Given the description of an element on the screen output the (x, y) to click on. 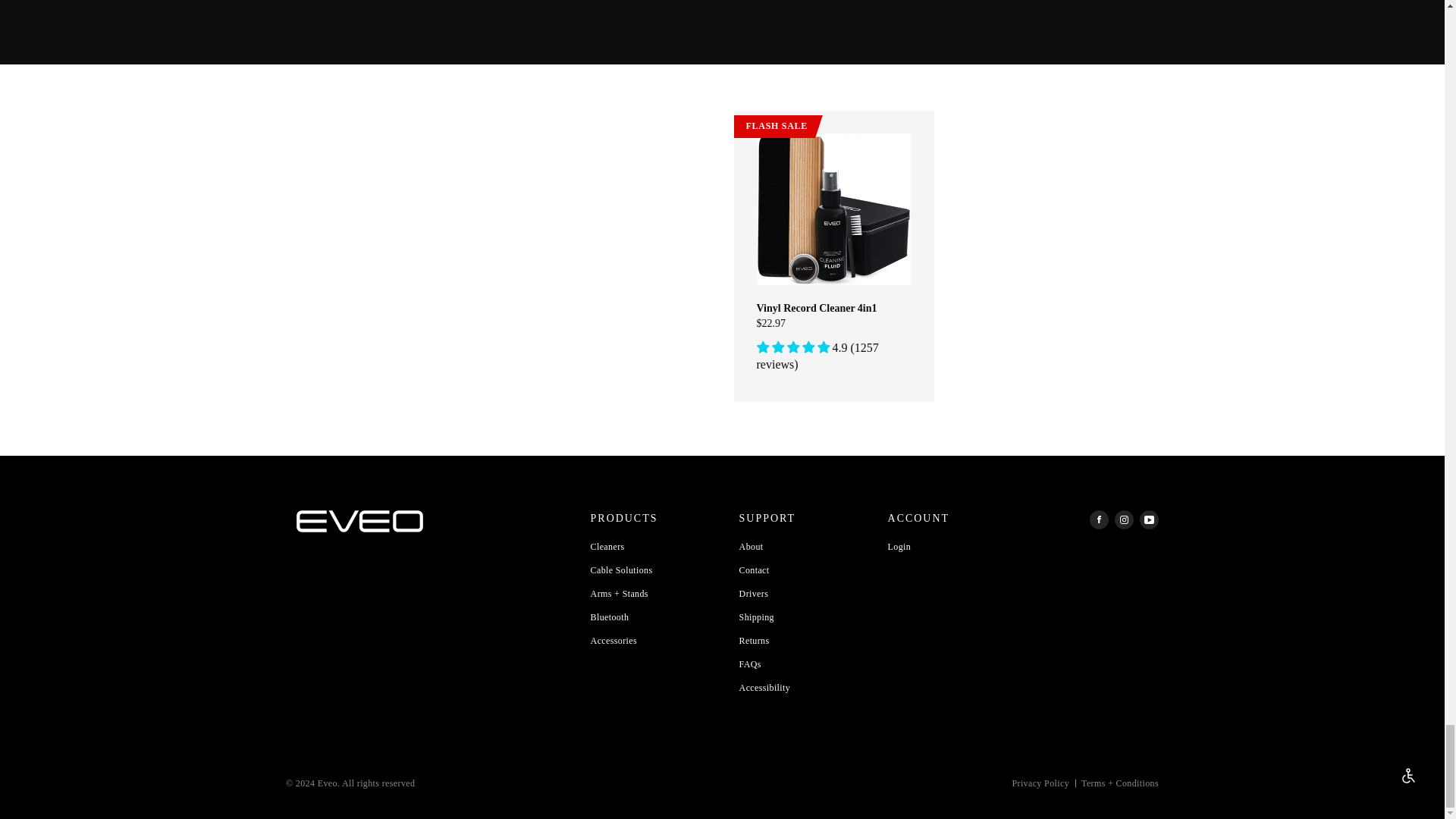
EVEO TV on Facebook (1098, 519)
EVEO TV on Instagram (1124, 519)
EVEO TV on Youtube (1149, 519)
